Given the description of an element on the screen output the (x, y) to click on. 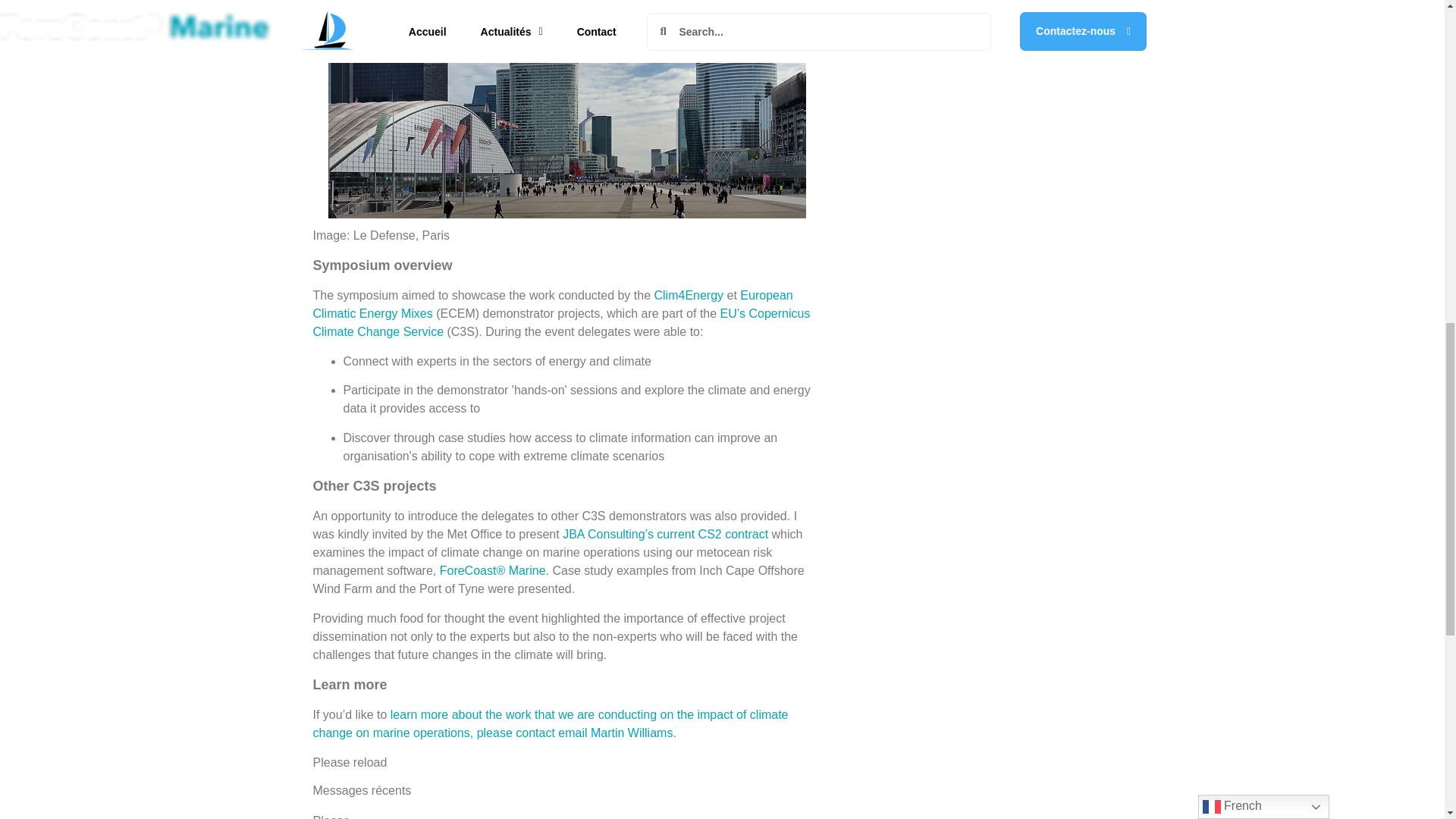
Le Defense, Paris (566, 109)
